Given the description of an element on the screen output the (x, y) to click on. 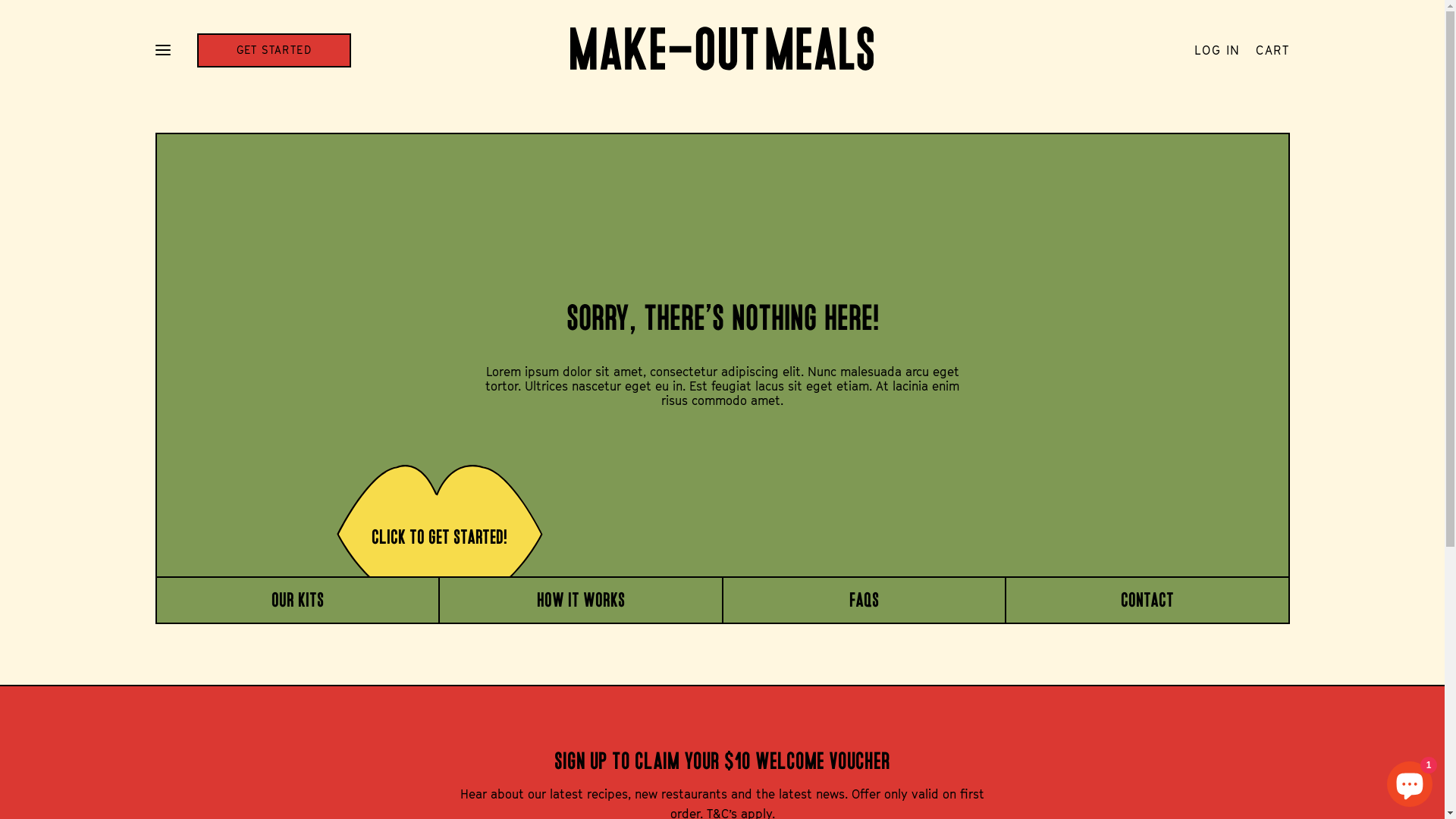
CART Element type: text (1272, 50)
OUR KITS Element type: text (297, 599)
LOG IN Element type: text (1217, 50)
FAQS Element type: text (863, 599)
CONTACT Element type: text (1146, 599)
Shopify online store chat Element type: hover (1409, 780)
Make-Out Meals Element type: hover (722, 50)
GET STARTED Element type: text (274, 50)
HOW IT WORKS Element type: text (580, 599)
